Given the description of an element on the screen output the (x, y) to click on. 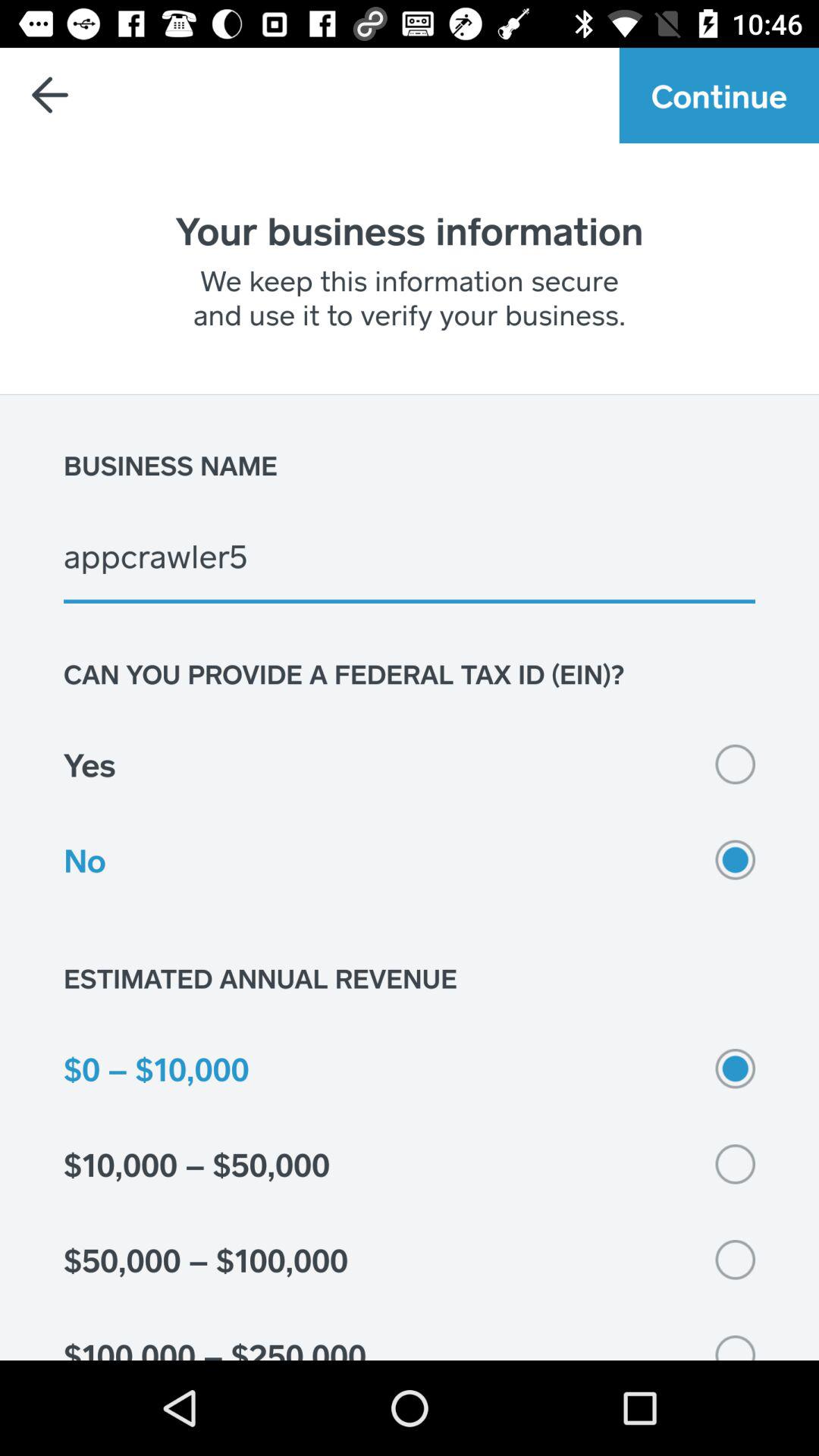
scroll until the we keep this (409, 297)
